Given the description of an element on the screen output the (x, y) to click on. 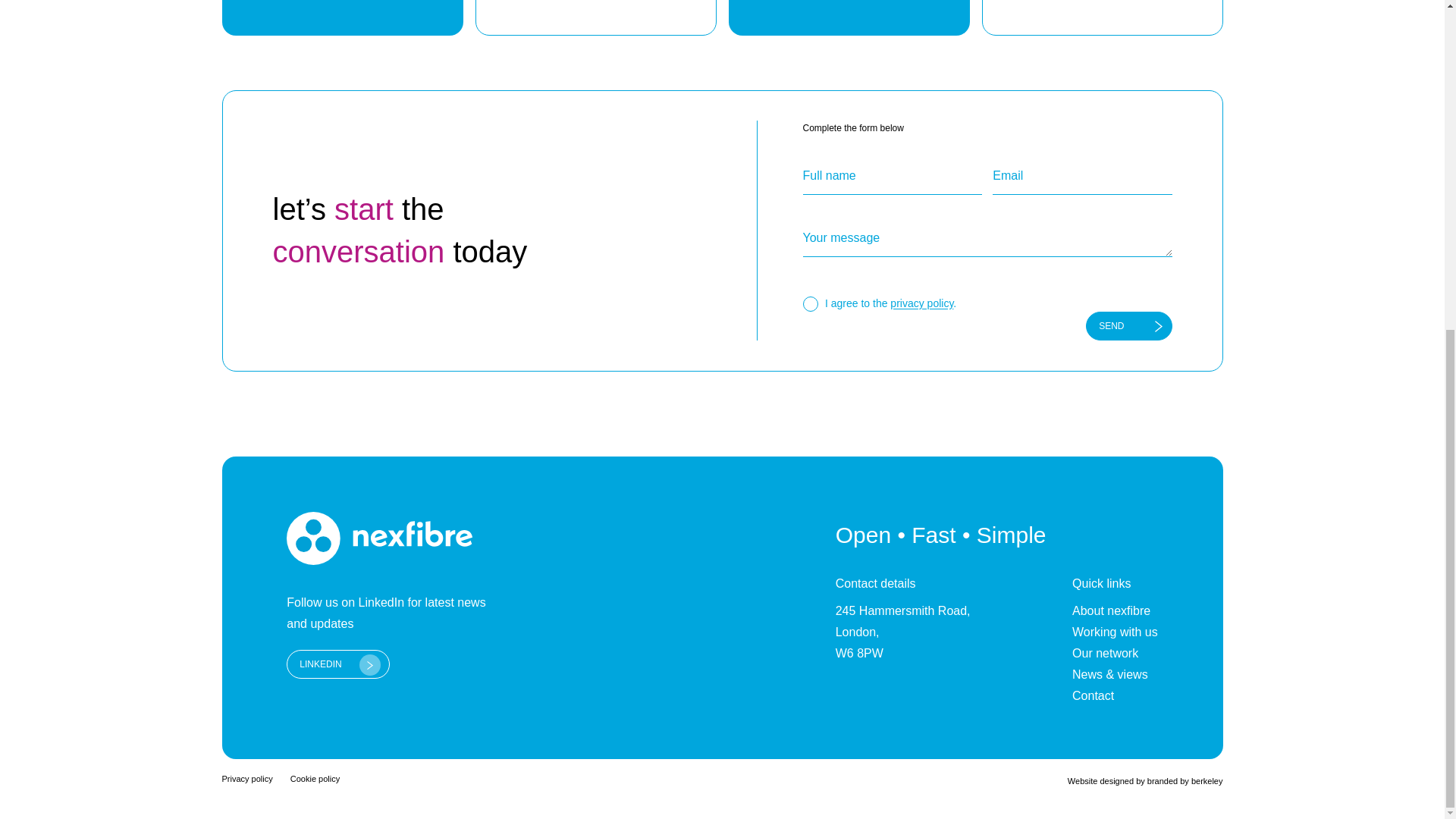
Working with us (1114, 631)
privacy policy (921, 304)
Send (1129, 326)
1 (809, 304)
Cookie policy (314, 777)
Our network (1114, 653)
About nexfibre (1114, 610)
Contact (1114, 695)
Send (1129, 326)
Privacy policy (246, 777)
LINKEDIN (337, 664)
